Given the description of an element on the screen output the (x, y) to click on. 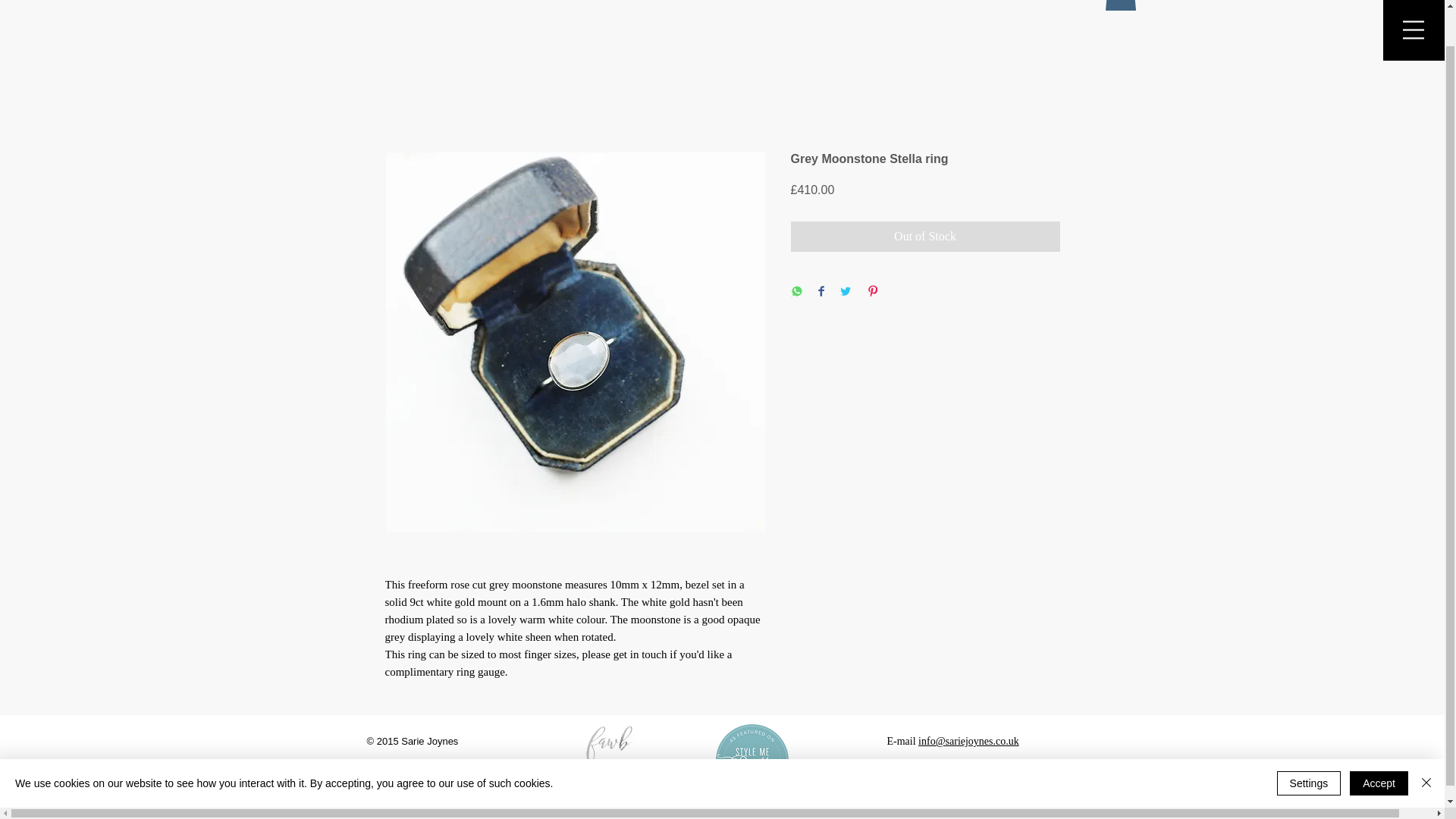
Accept (1378, 745)
Settings (1308, 745)
Out of Stock (924, 236)
